Given the description of an element on the screen output the (x, y) to click on. 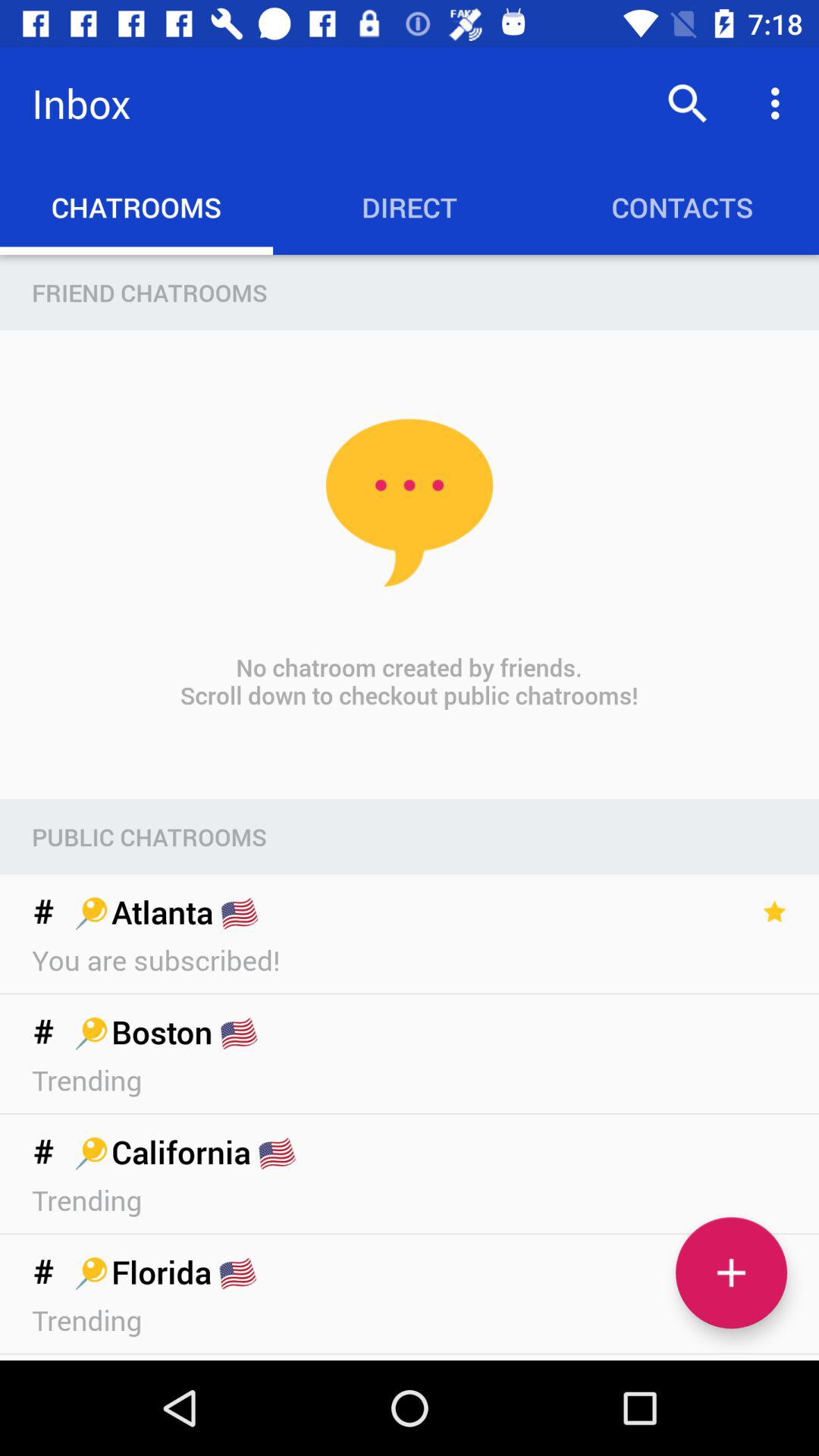
show more chatrooms (731, 1272)
